Given the description of an element on the screen output the (x, y) to click on. 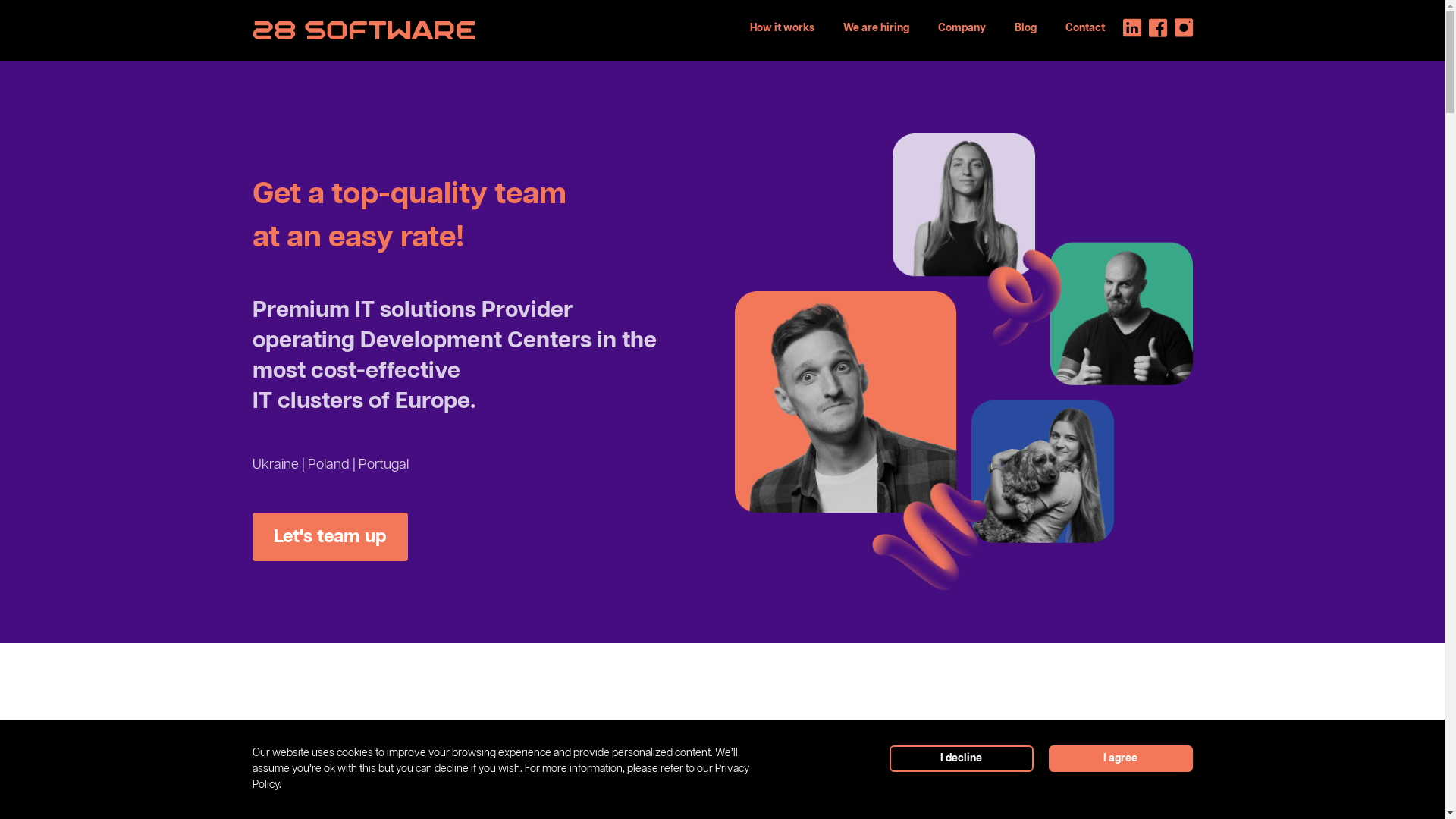
I agree Element type: text (1120, 758)
Company Element type: text (960, 27)
Blog Element type: text (1025, 27)
We are hiring Element type: text (875, 27)
I decline Element type: text (960, 758)
Contact Element type: text (1084, 27)
Let's team up Element type: text (329, 536)
How it works Element type: text (781, 27)
